Given the description of an element on the screen output the (x, y) to click on. 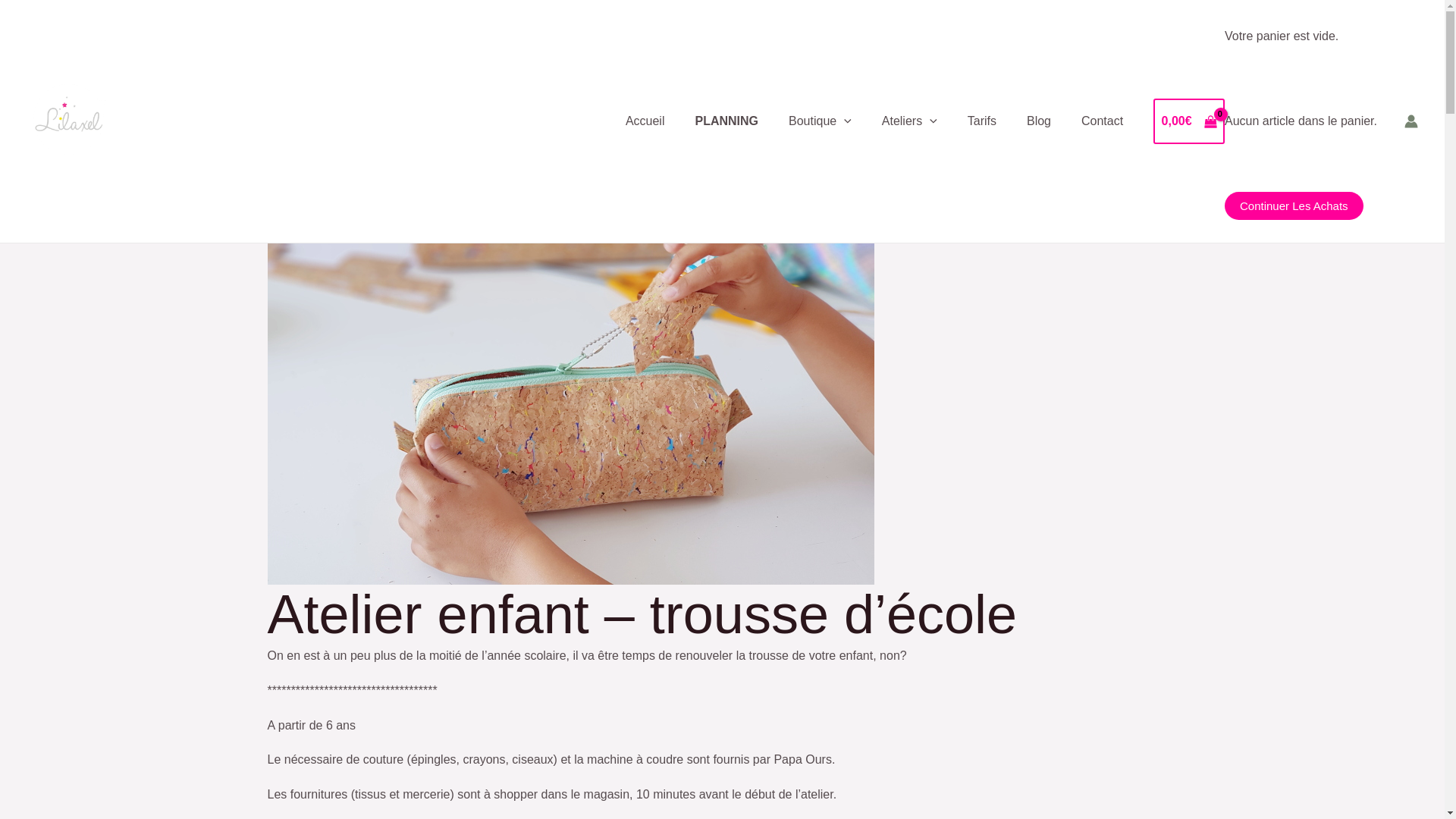
Blog Element type: text (1038, 120)
Continuer Les Achats Element type: text (1293, 205)
Tarifs Element type: text (981, 120)
PLANNING Element type: text (726, 120)
Ateliers Element type: text (909, 120)
Contact Element type: text (1102, 120)
Accueil Element type: text (645, 120)
Boutique Element type: text (819, 120)
